Given the description of an element on the screen output the (x, y) to click on. 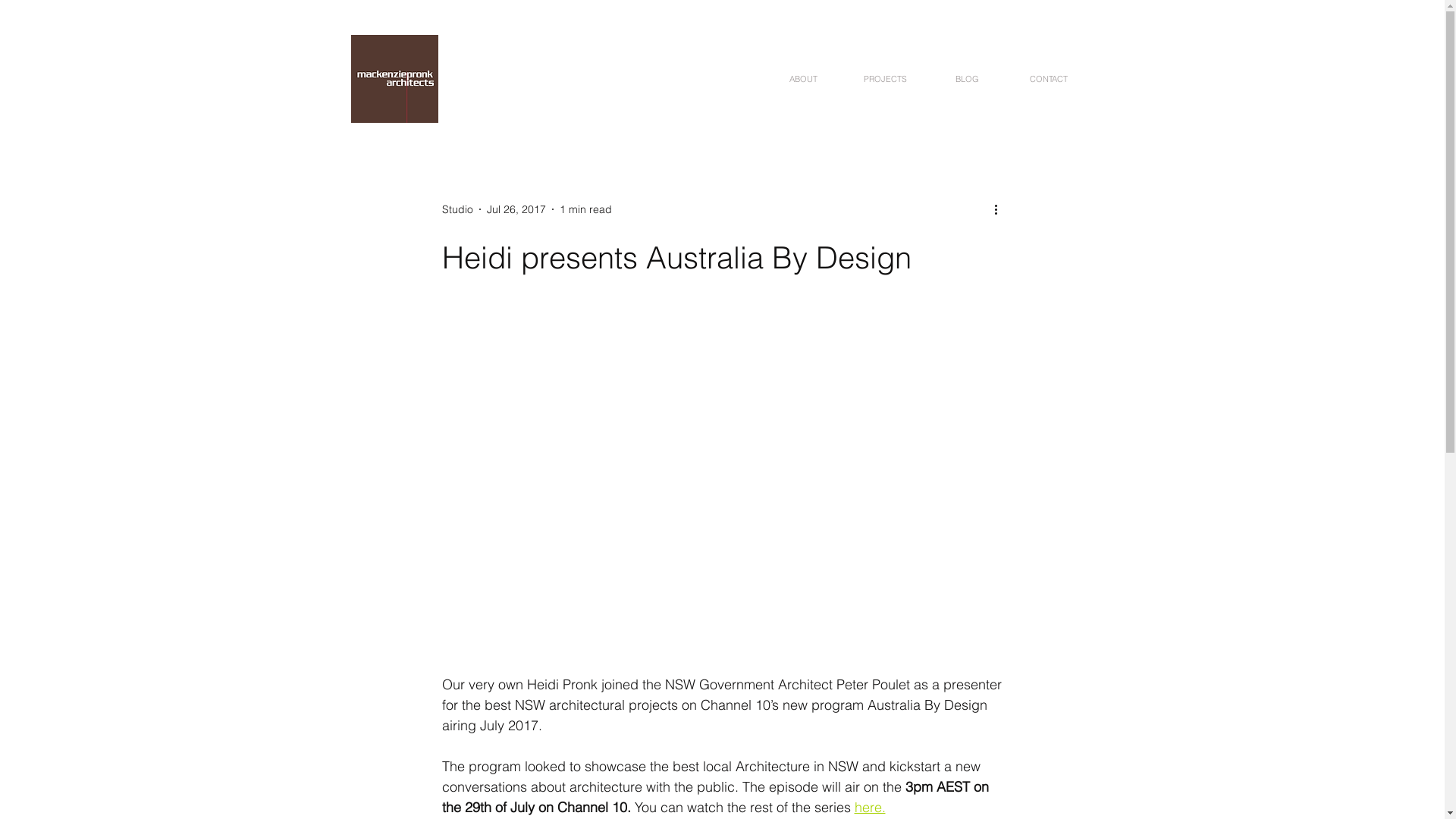
CONTACT Element type: text (1047, 78)
BLOG Element type: text (966, 78)
here. Element type: text (868, 806)
